Given the description of an element on the screen output the (x, y) to click on. 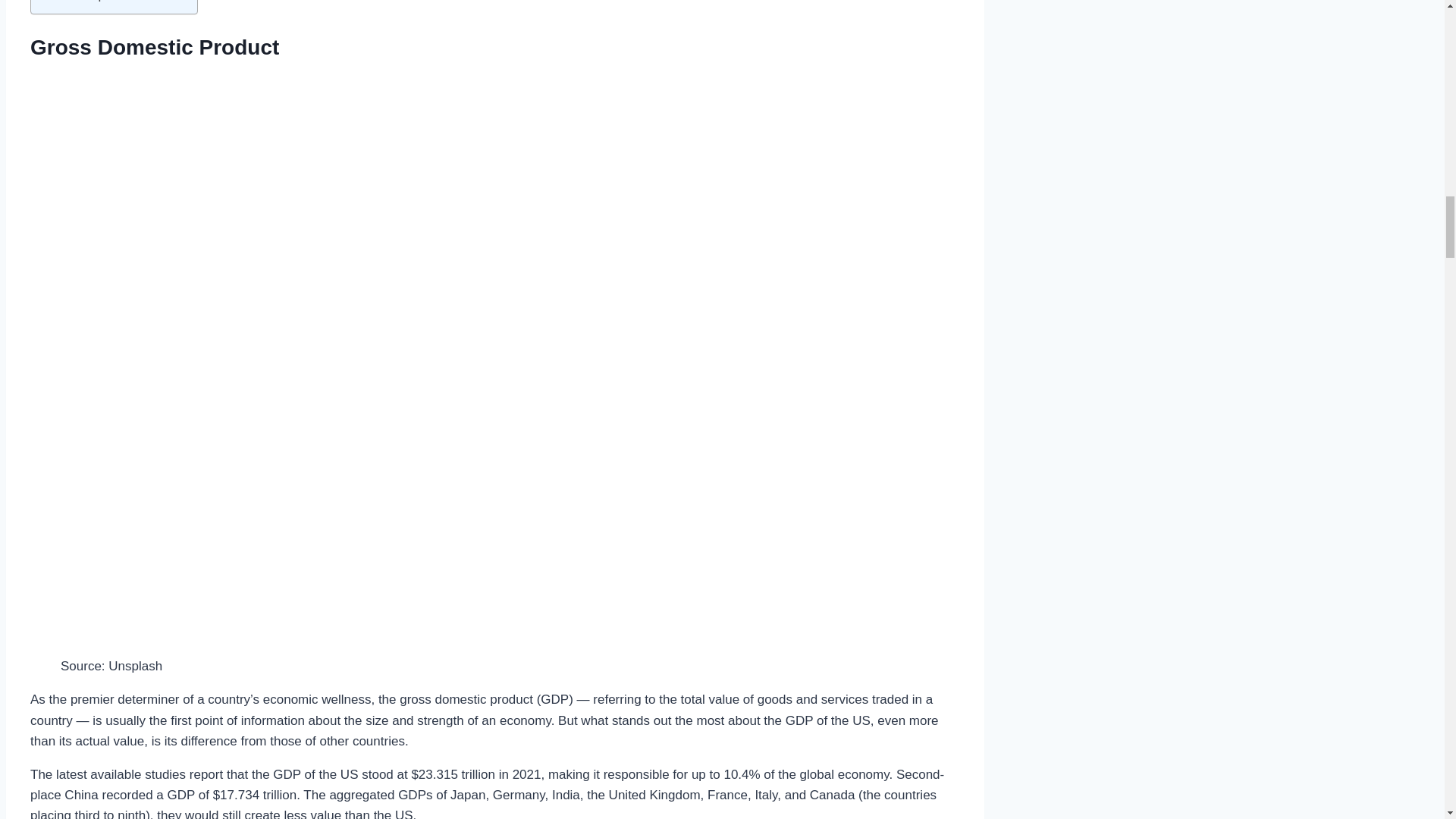
Market Capitalization (98, 2)
